Given the description of an element on the screen output the (x, y) to click on. 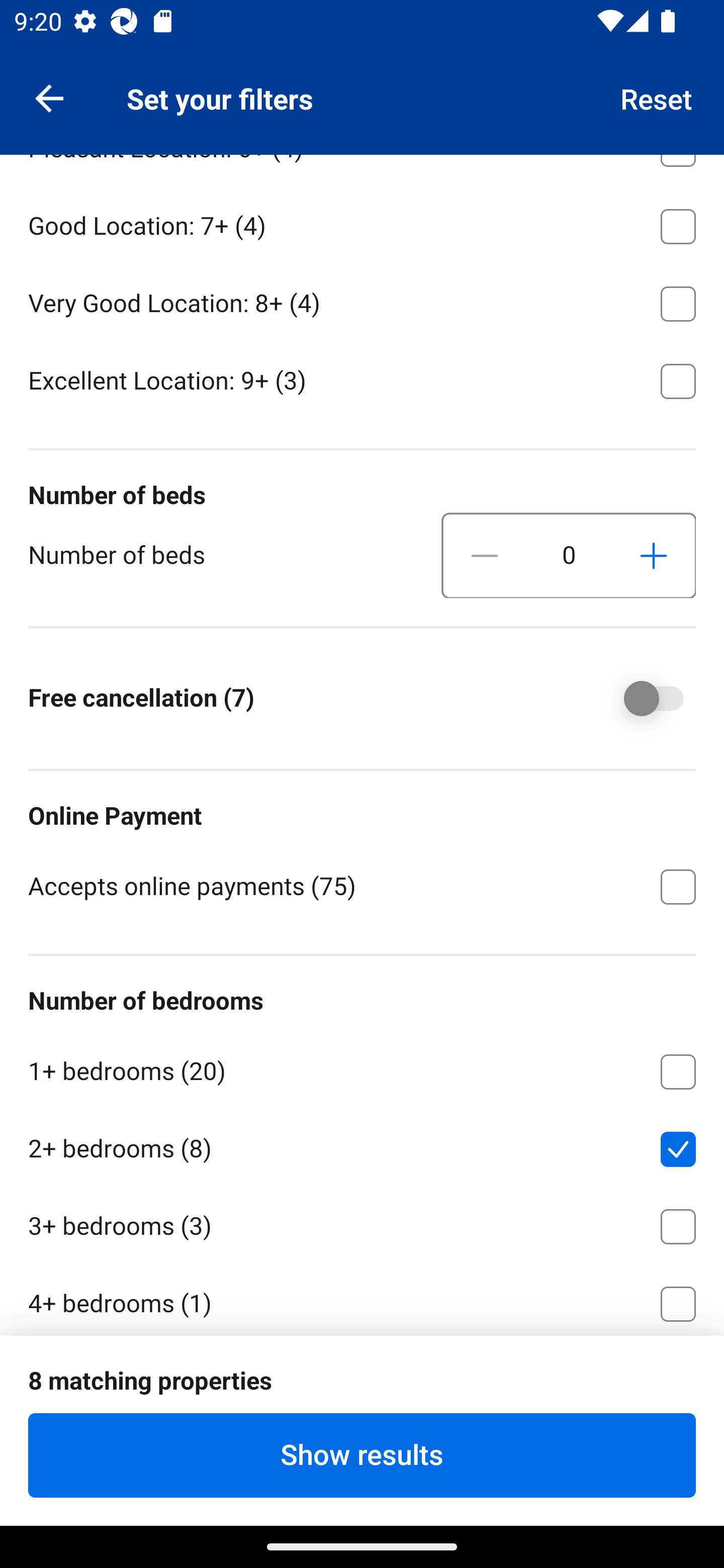
Navigate up (49, 97)
Reset (656, 97)
Good Location: 7+ ⁦(4) (361, 223)
Very Good Location: 8+ ⁦(4) (361, 299)
Excellent Location: 9+ ⁦(3) (361, 379)
Decrease (484, 555)
Increase (653, 555)
Free cancellation ⁦(7) (639, 698)
Accepts online payments ⁦(75) (361, 885)
1+ bedrooms ⁦(20) (361, 1068)
2+ bedrooms ⁦(8) (361, 1145)
3+ bedrooms ⁦(3) (361, 1222)
4+ bedrooms ⁦(1) (361, 1298)
Show results (361, 1454)
